Given the description of an element on the screen output the (x, y) to click on. 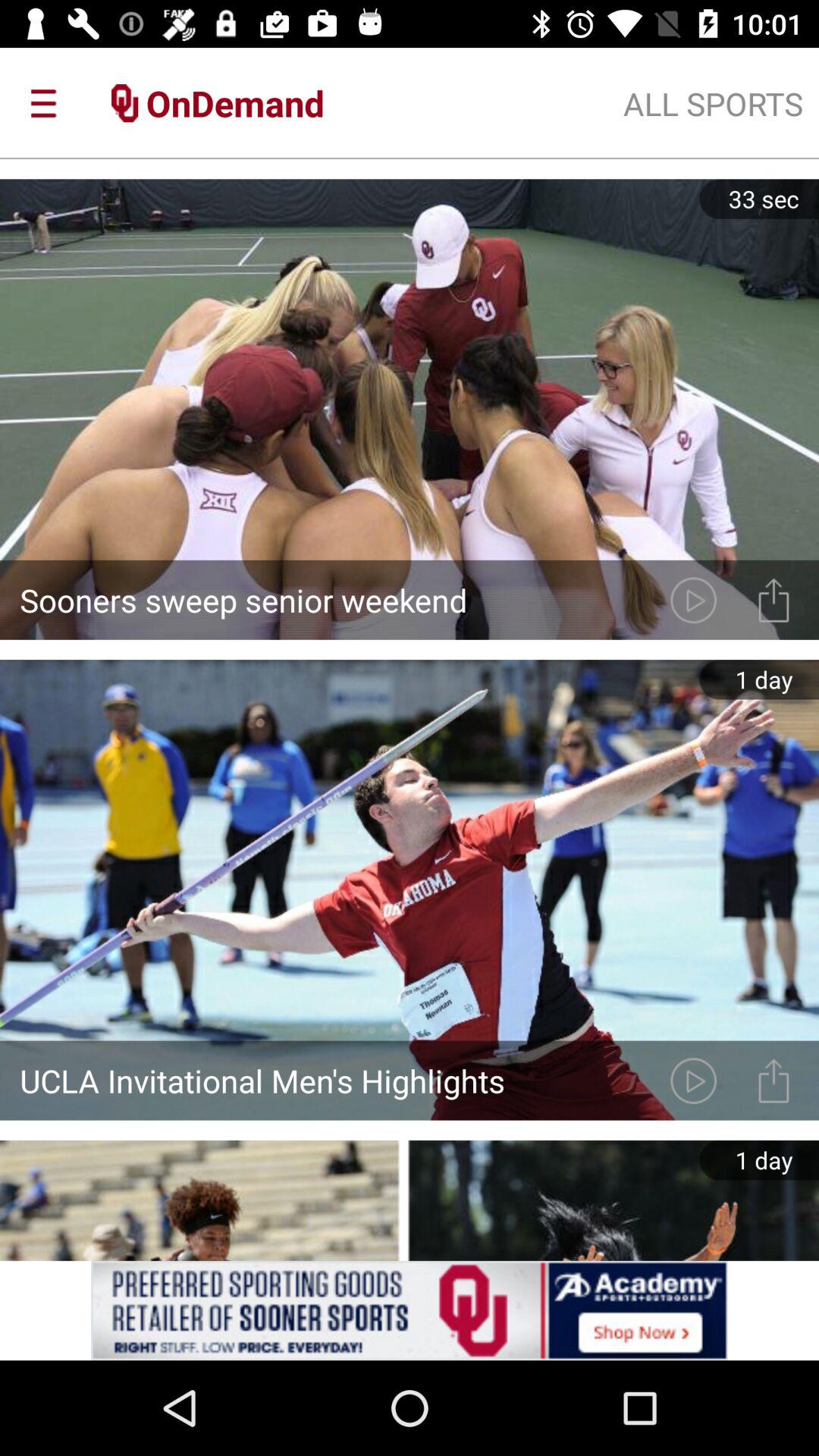
open video (693, 1080)
